Given the description of an element on the screen output the (x, y) to click on. 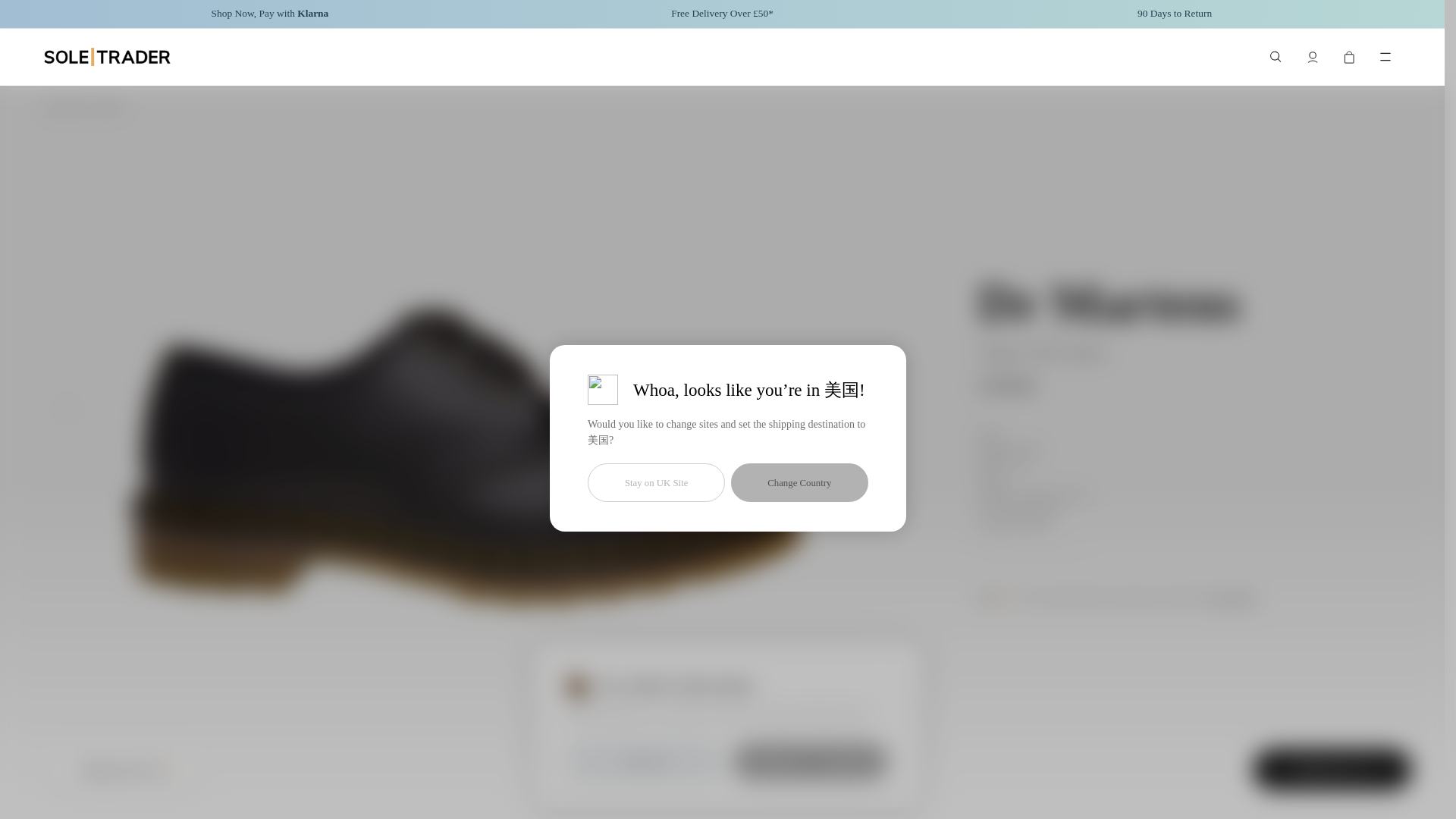
Change colour (123, 769)
Menu (1385, 56)
WOMENS (65, 107)
90 Days to Return (1174, 13)
Your bag (1348, 56)
Account (1312, 56)
Dr Martens (1108, 302)
Add to wishlist (665, 769)
Search (1275, 56)
Select size (1332, 769)
